Given the description of an element on the screen output the (x, y) to click on. 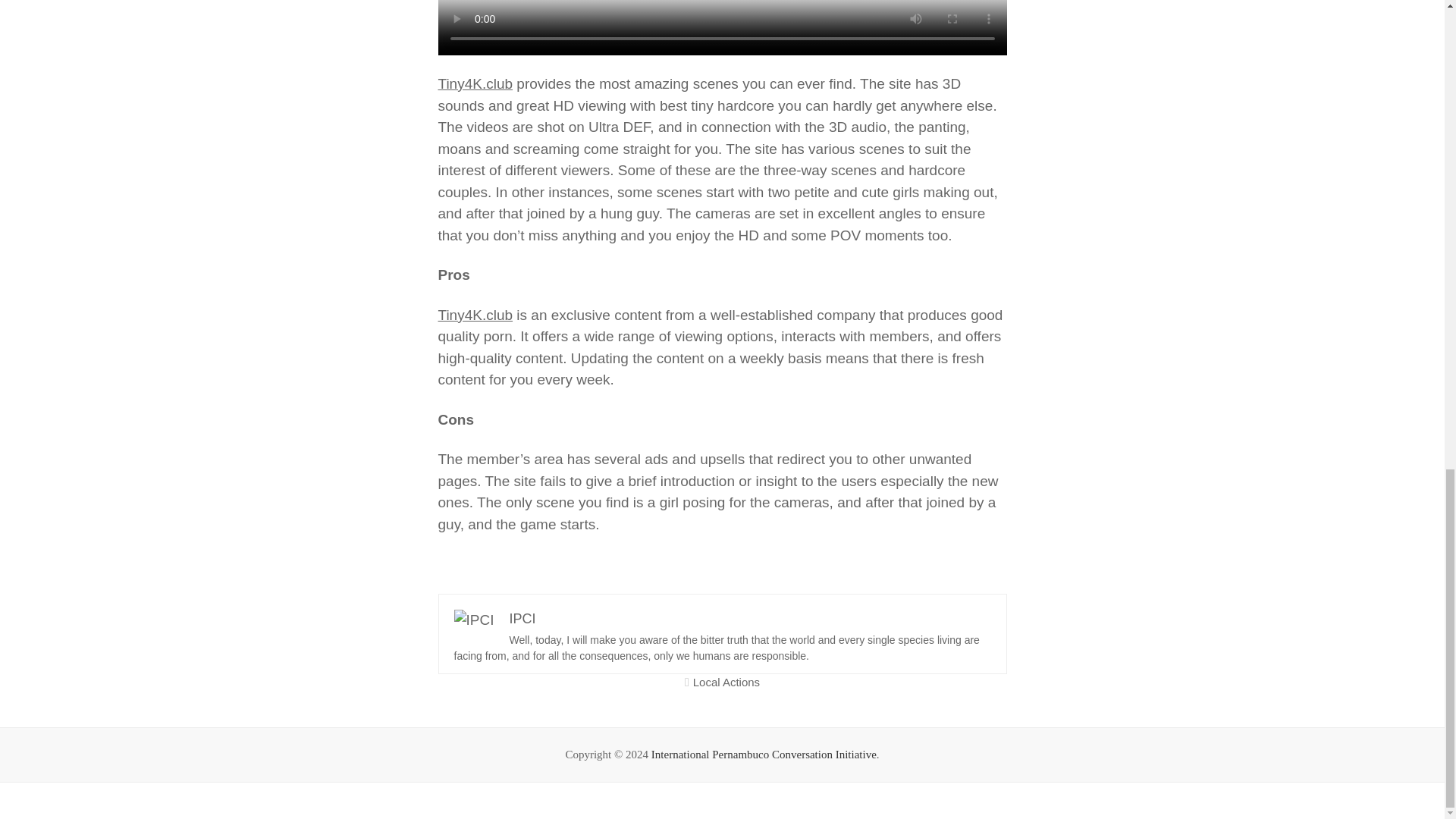
International Pernambuco Conversation Initiative (763, 754)
Local Actions (726, 681)
Tiny4K.club (475, 83)
Tiny4K.club (475, 314)
IPCI (521, 617)
